Given the description of an element on the screen output the (x, y) to click on. 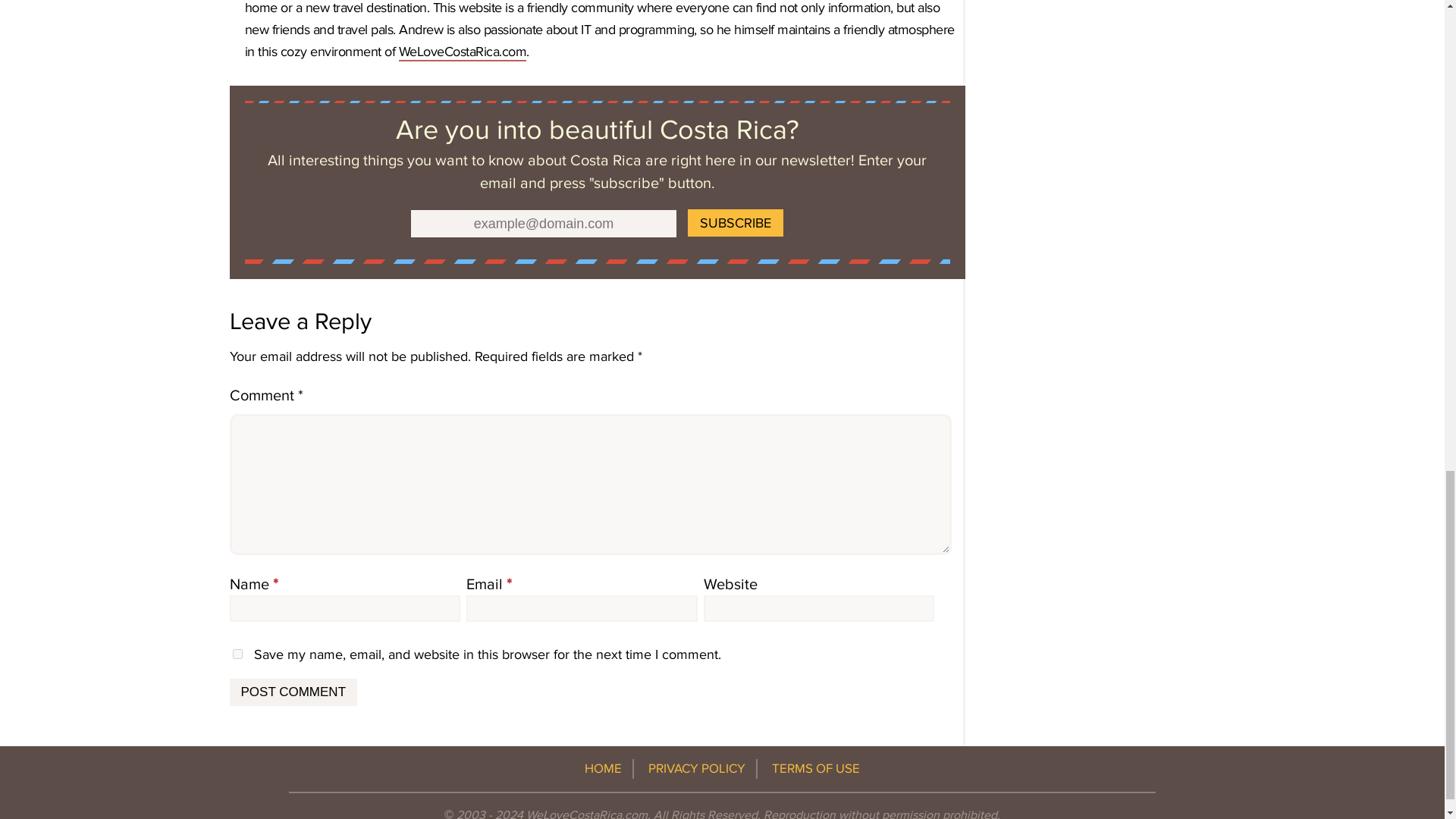
yes (236, 654)
Post Comment (292, 691)
